Given the description of an element on the screen output the (x, y) to click on. 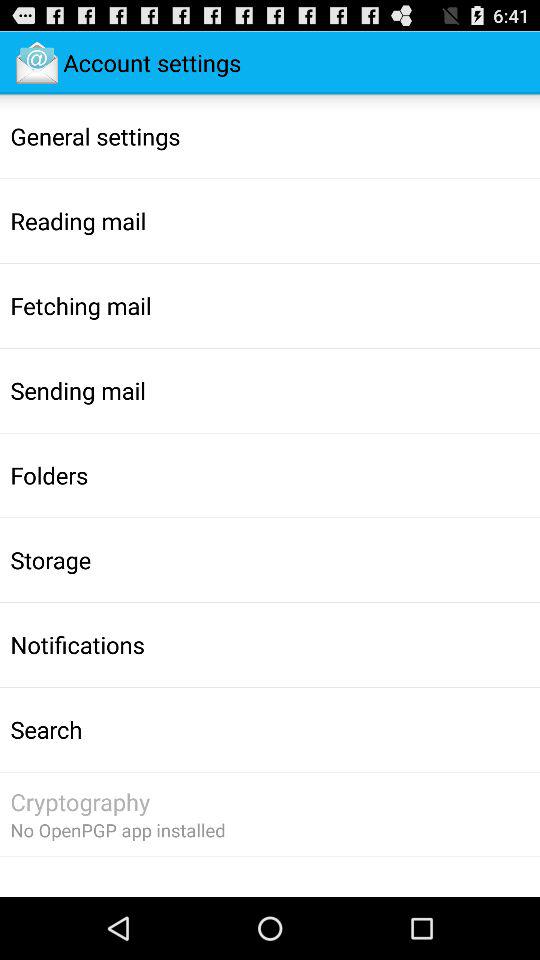
turn on the app above storage (49, 475)
